Given the description of an element on the screen output the (x, y) to click on. 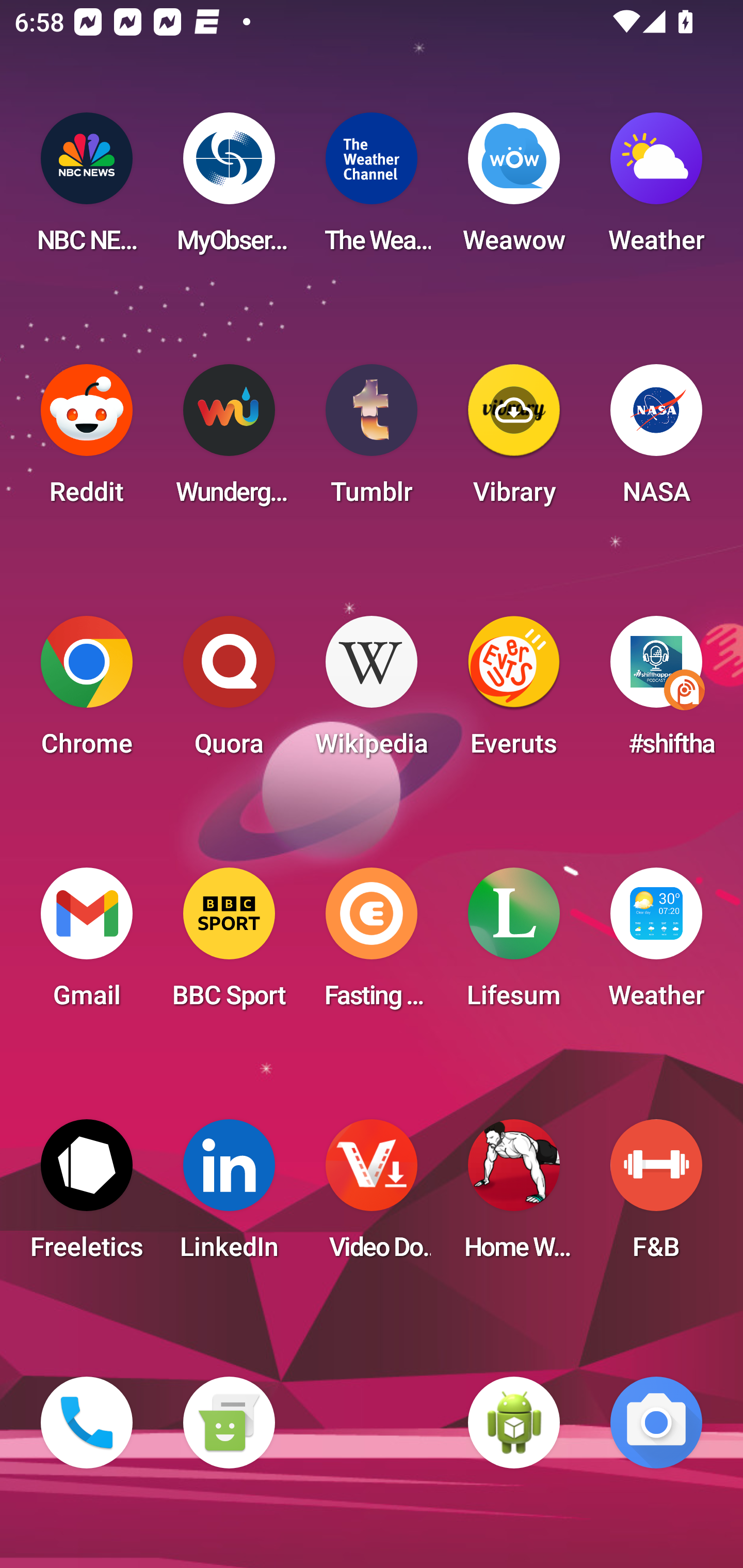
NBC NEWS (86, 188)
MyObservatory (228, 188)
The Weather Channel (371, 188)
Weawow (513, 188)
Weather (656, 188)
Reddit (86, 440)
Wunderground (228, 440)
Tumblr (371, 440)
Vibrary (513, 440)
NASA (656, 440)
Chrome (86, 692)
Quora (228, 692)
Wikipedia (371, 692)
Everuts (513, 692)
#shifthappens in the Digital Workplace Podcast (656, 692)
Gmail (86, 943)
BBC Sport (228, 943)
Fasting Coach (371, 943)
Lifesum (513, 943)
Weather (656, 943)
Freeletics (86, 1195)
LinkedIn (228, 1195)
Video Downloader & Ace Player (371, 1195)
Home Workout (513, 1195)
F&B (656, 1195)
Phone (86, 1422)
Messaging (228, 1422)
WebView Browser Tester (513, 1422)
Camera (656, 1422)
